Given the description of an element on the screen output the (x, y) to click on. 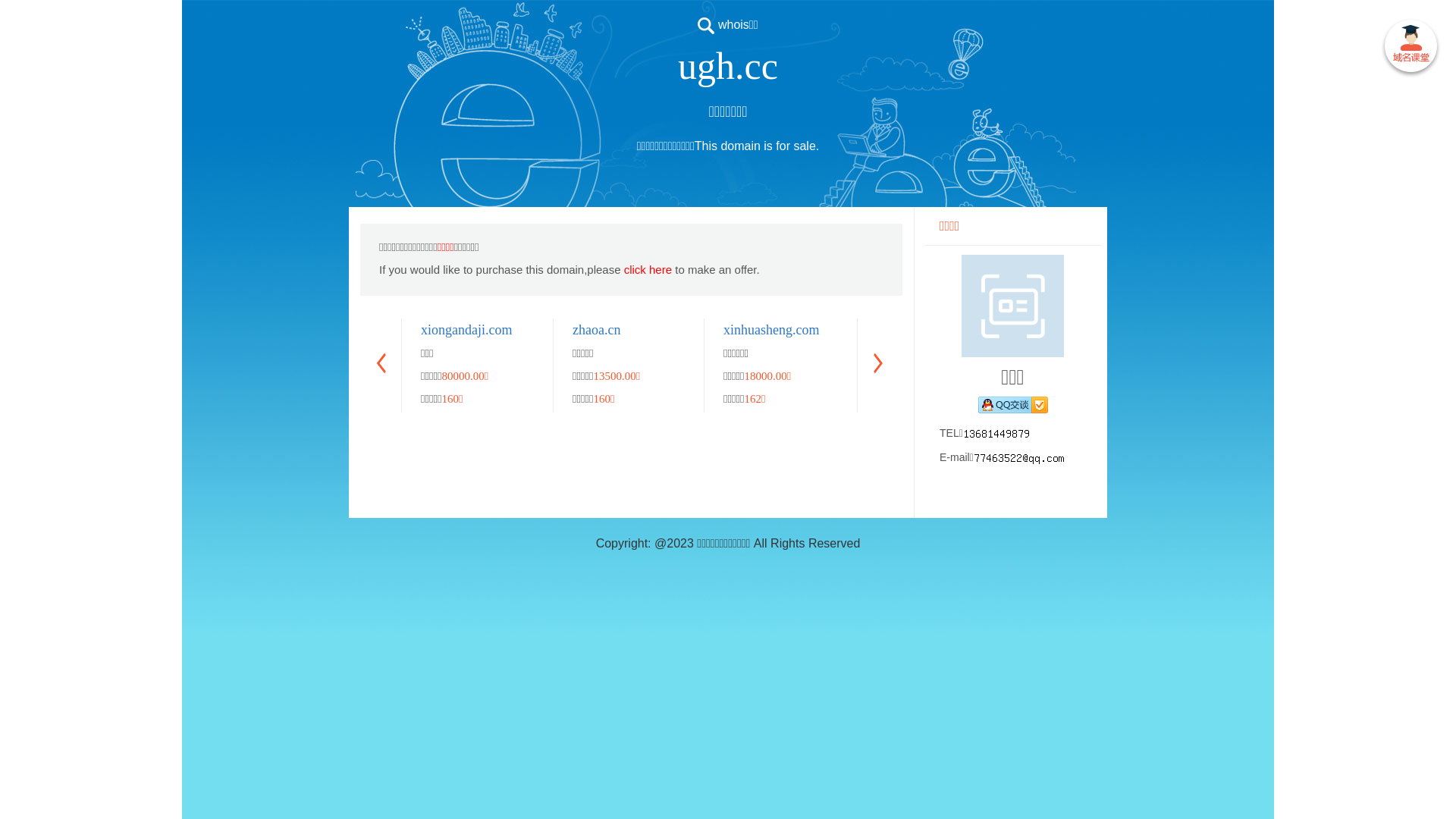
  Element type: text (1410, 48)
qianggou.cc Element type: text (1209, 329)
dfbhw.com Element type: text (1055, 329)
click here Element type: text (647, 269)
xinhuasheng.com Element type: text (771, 329)
zhaoa.cn Element type: text (596, 329)
niuzaibu.com.cn Element type: text (919, 329)
xiongandaji.com Element type: text (465, 329)
fushijia.com Element type: text (1360, 329)
